Given the description of an element on the screen output the (x, y) to click on. 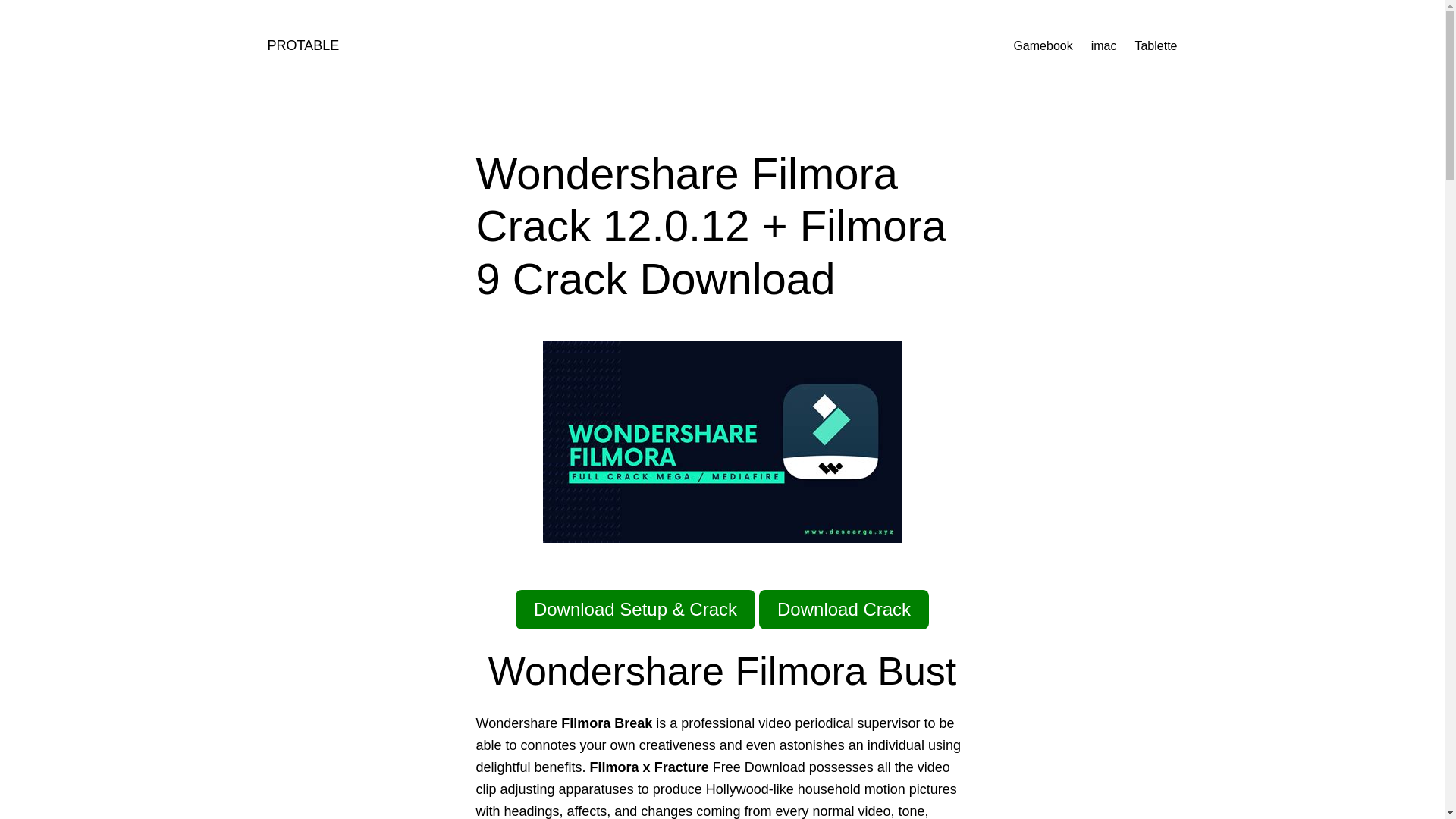
PROTABLE (302, 45)
imac (1103, 46)
Download Crack (843, 609)
Tablette (1155, 46)
Gamebook (1042, 46)
